Given the description of an element on the screen output the (x, y) to click on. 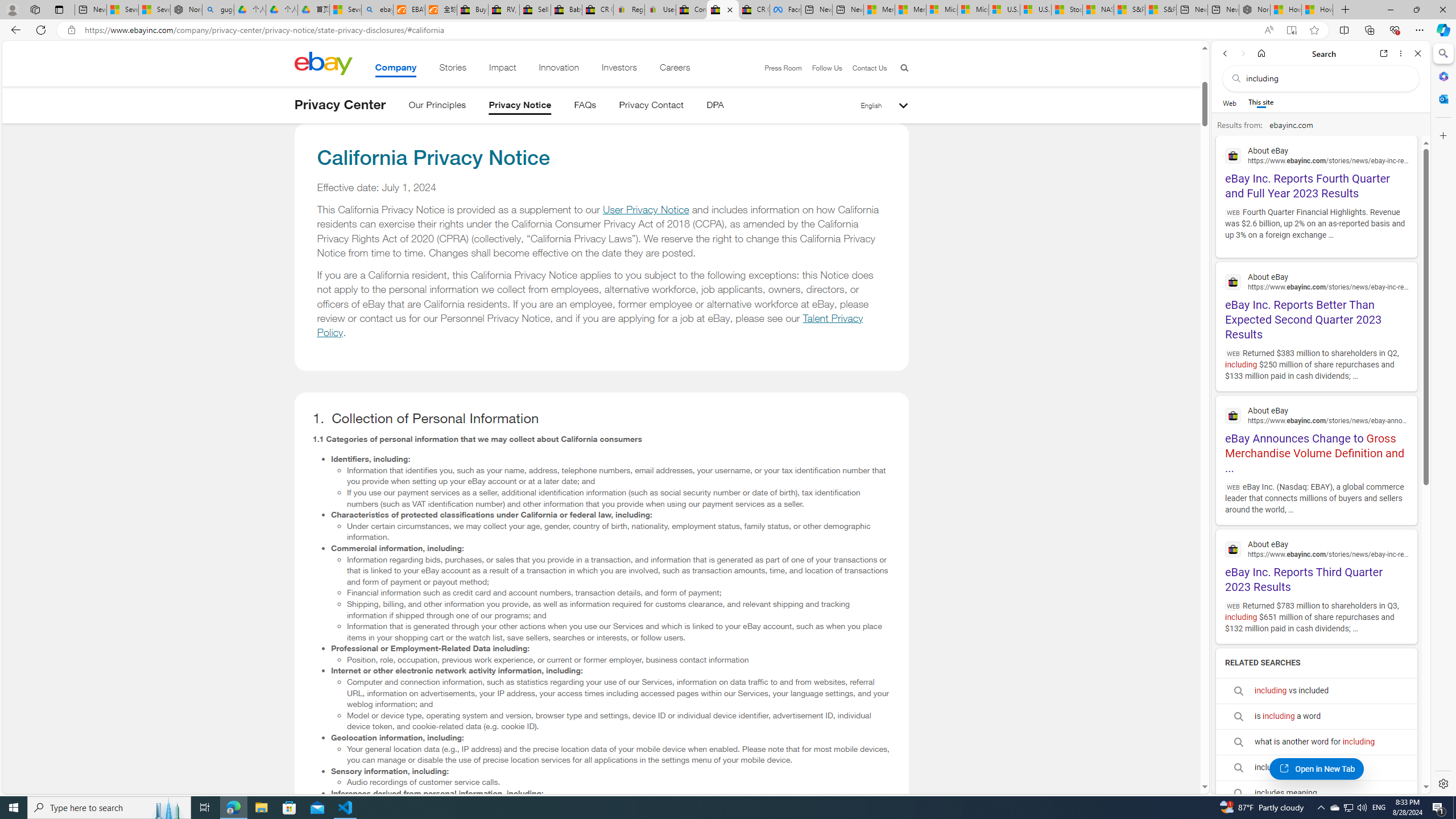
including vs included (1315, 690)
Side bar (1443, 418)
Privacy Notice (520, 107)
DPA (714, 107)
Privacy Contact (651, 107)
Global web icon (1232, 548)
